Given the description of an element on the screen output the (x, y) to click on. 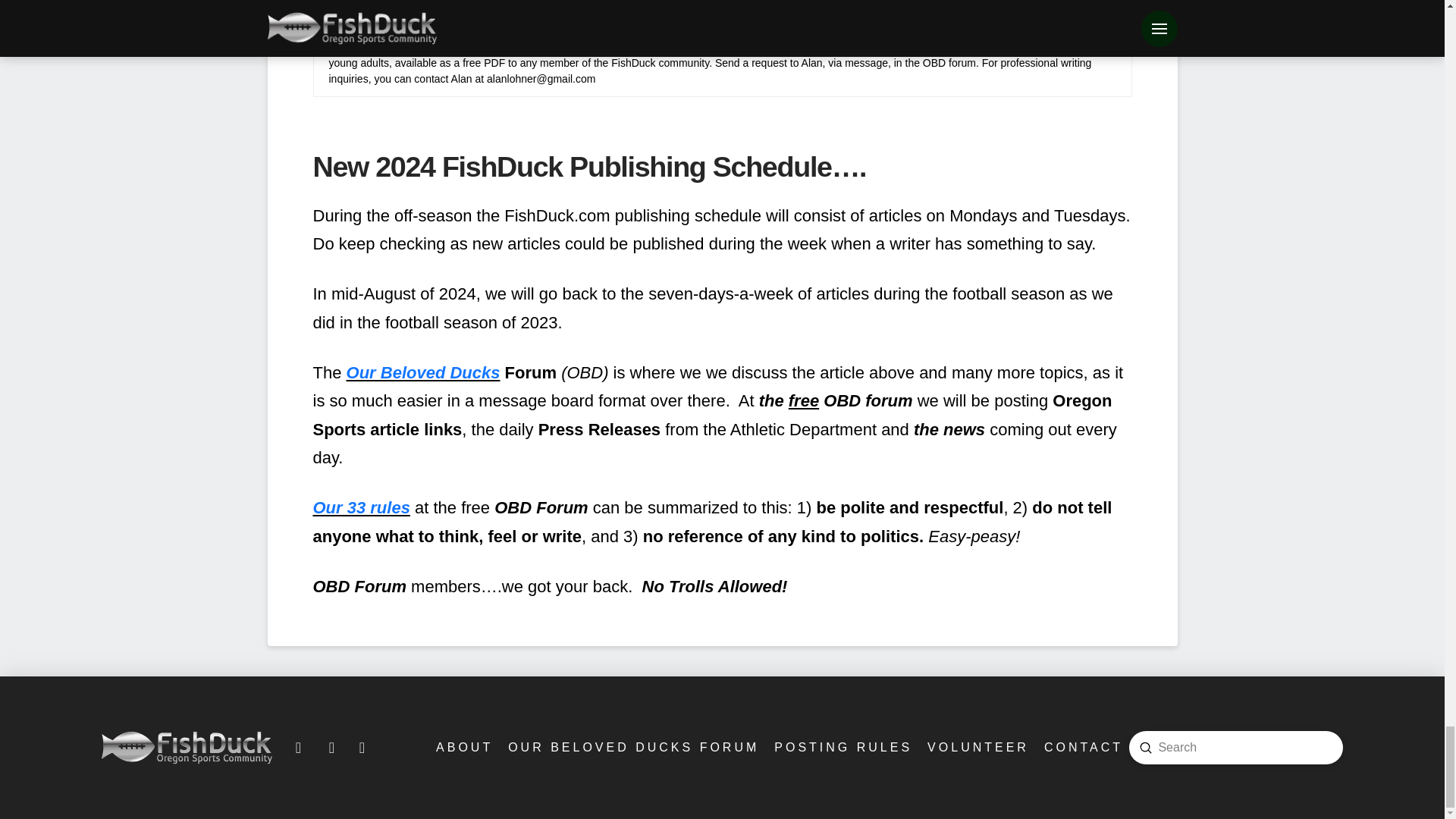
Volunteer (976, 747)
ABOUT (462, 747)
Submit (1145, 747)
CONTACT (1082, 747)
OUR BELOVED DUCKS FORUM (632, 747)
POSTING RULES (841, 747)
Commenting Rules (841, 747)
Our Beloved Ducks (423, 372)
About (462, 747)
VOLUNTEER (976, 747)
Our 33 rules (361, 506)
